Given the description of an element on the screen output the (x, y) to click on. 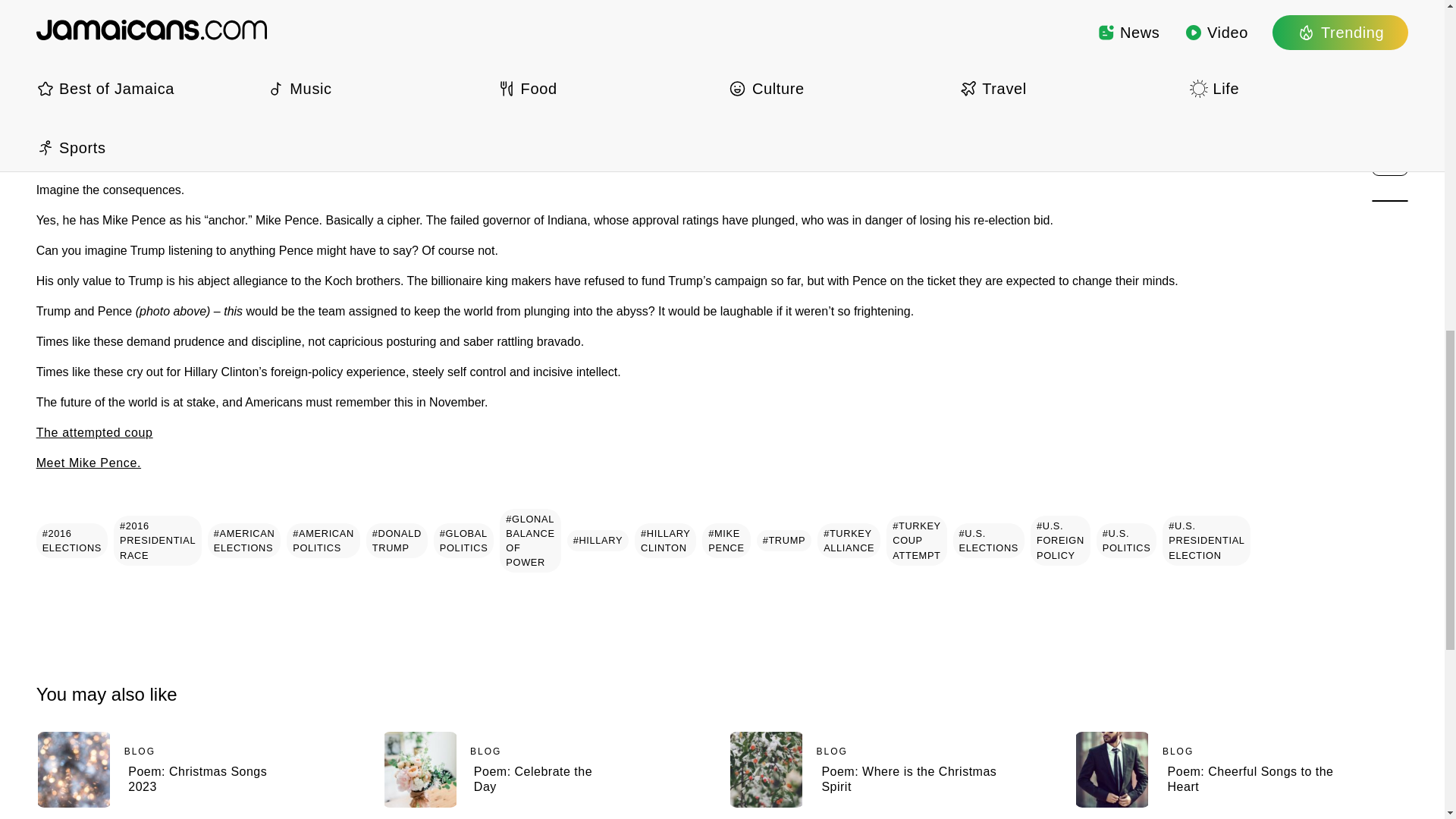
The attempted coup (94, 431)
